Given the description of an element on the screen output the (x, y) to click on. 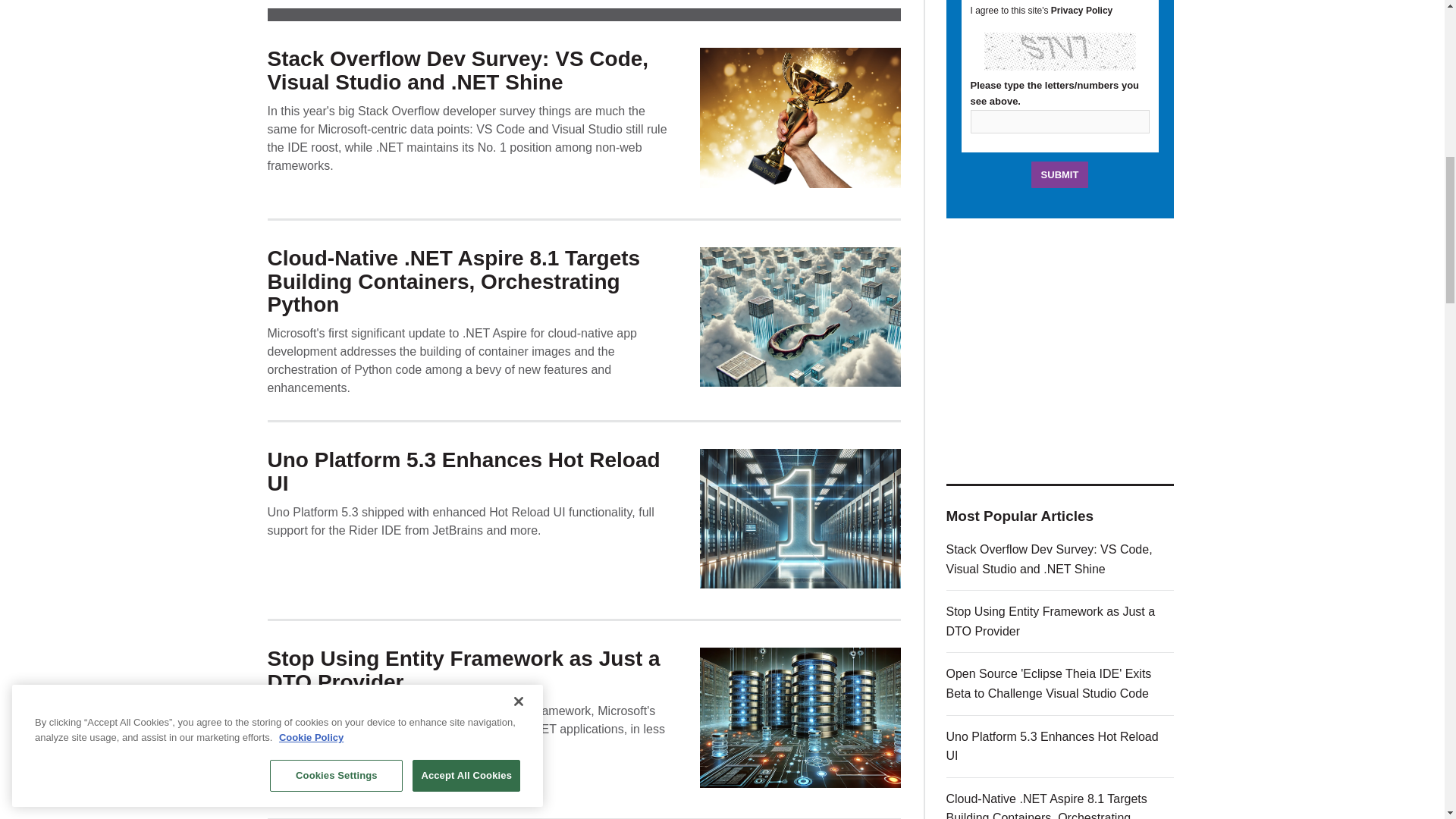
Submit (1059, 174)
3rd party ad content (1059, 350)
